Given the description of an element on the screen output the (x, y) to click on. 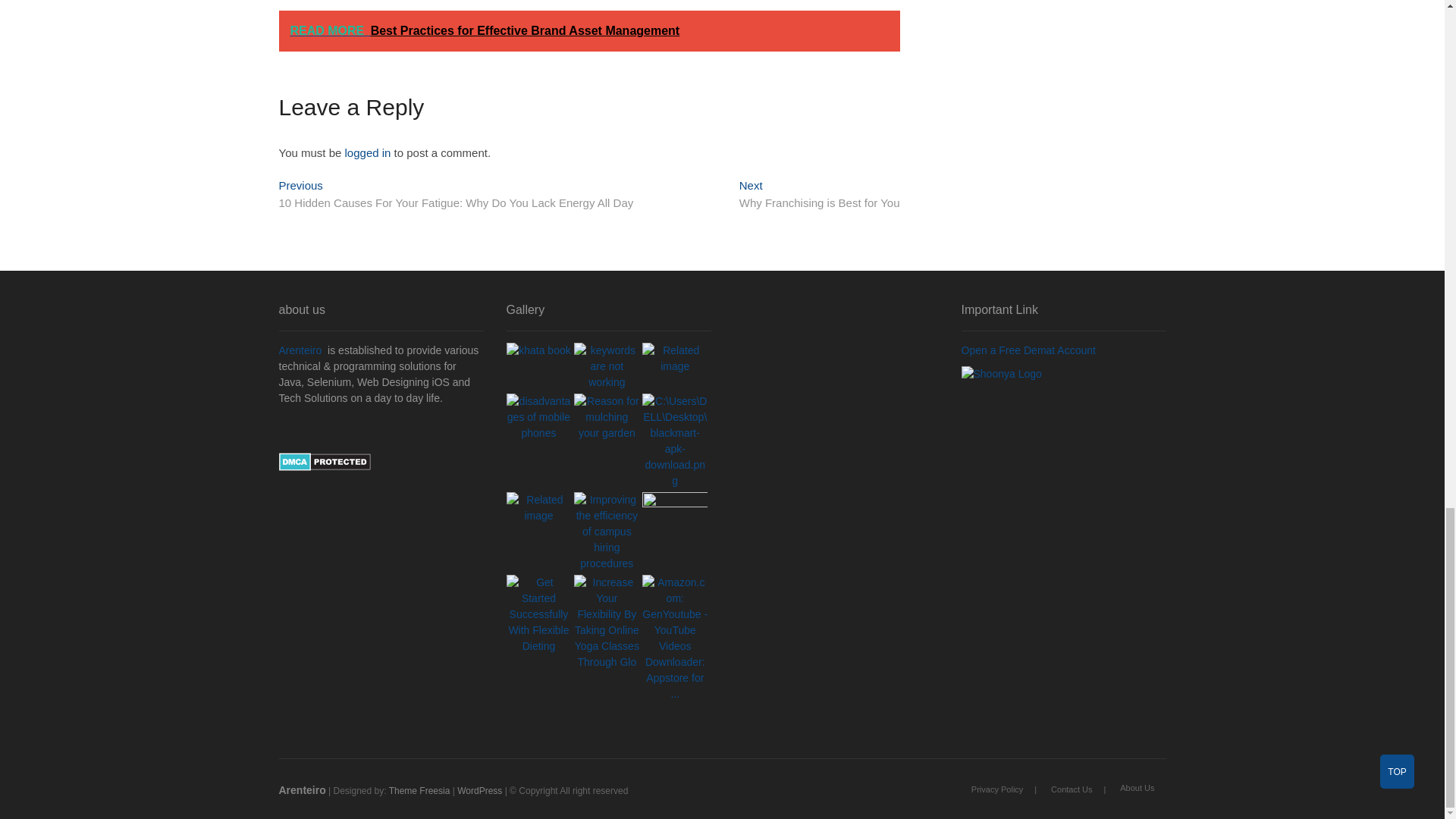
logged in (368, 152)
